Given the description of an element on the screen output the (x, y) to click on. 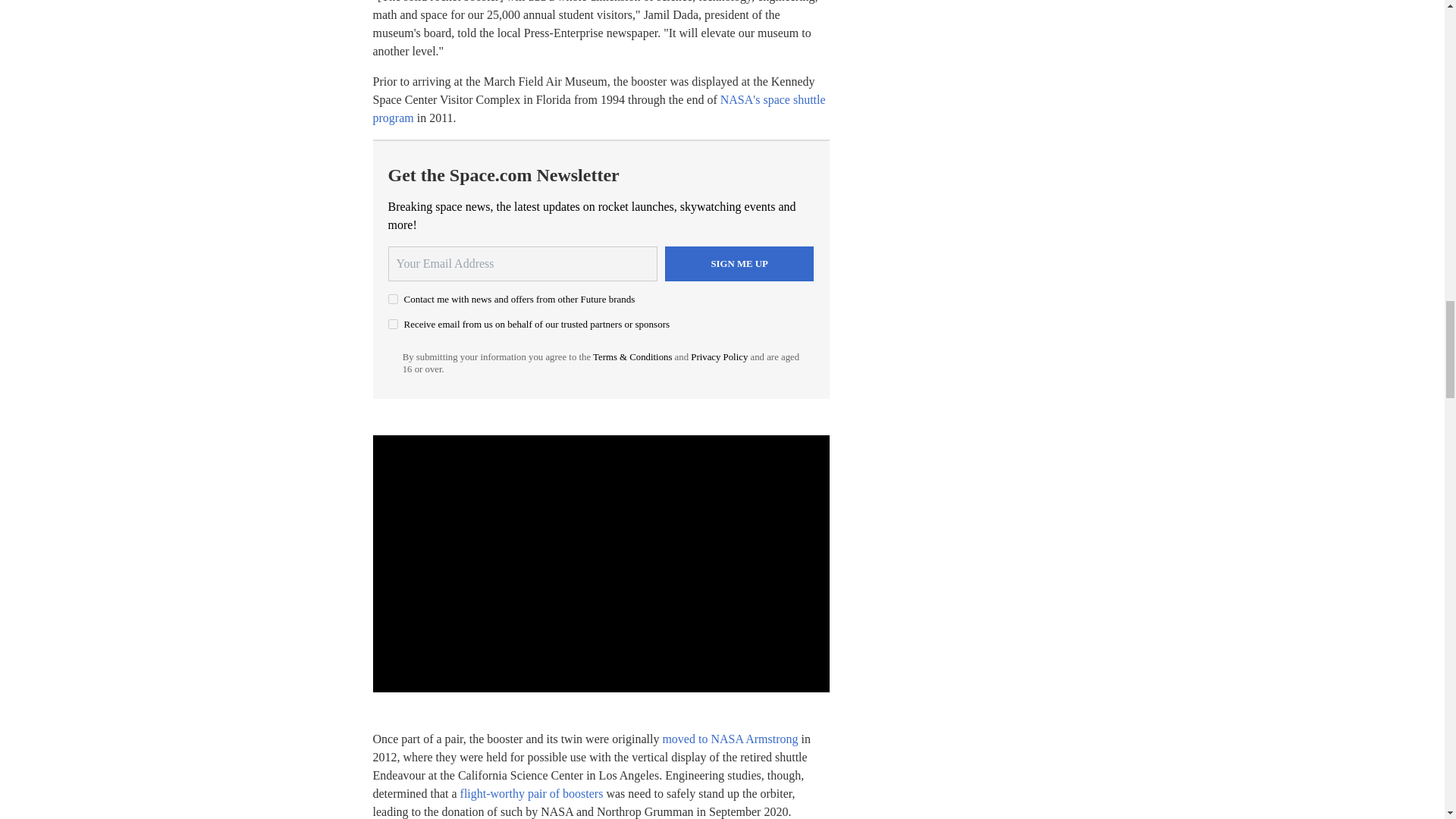
on (392, 324)
Sign me up (739, 263)
on (392, 298)
